Given the description of an element on the screen output the (x, y) to click on. 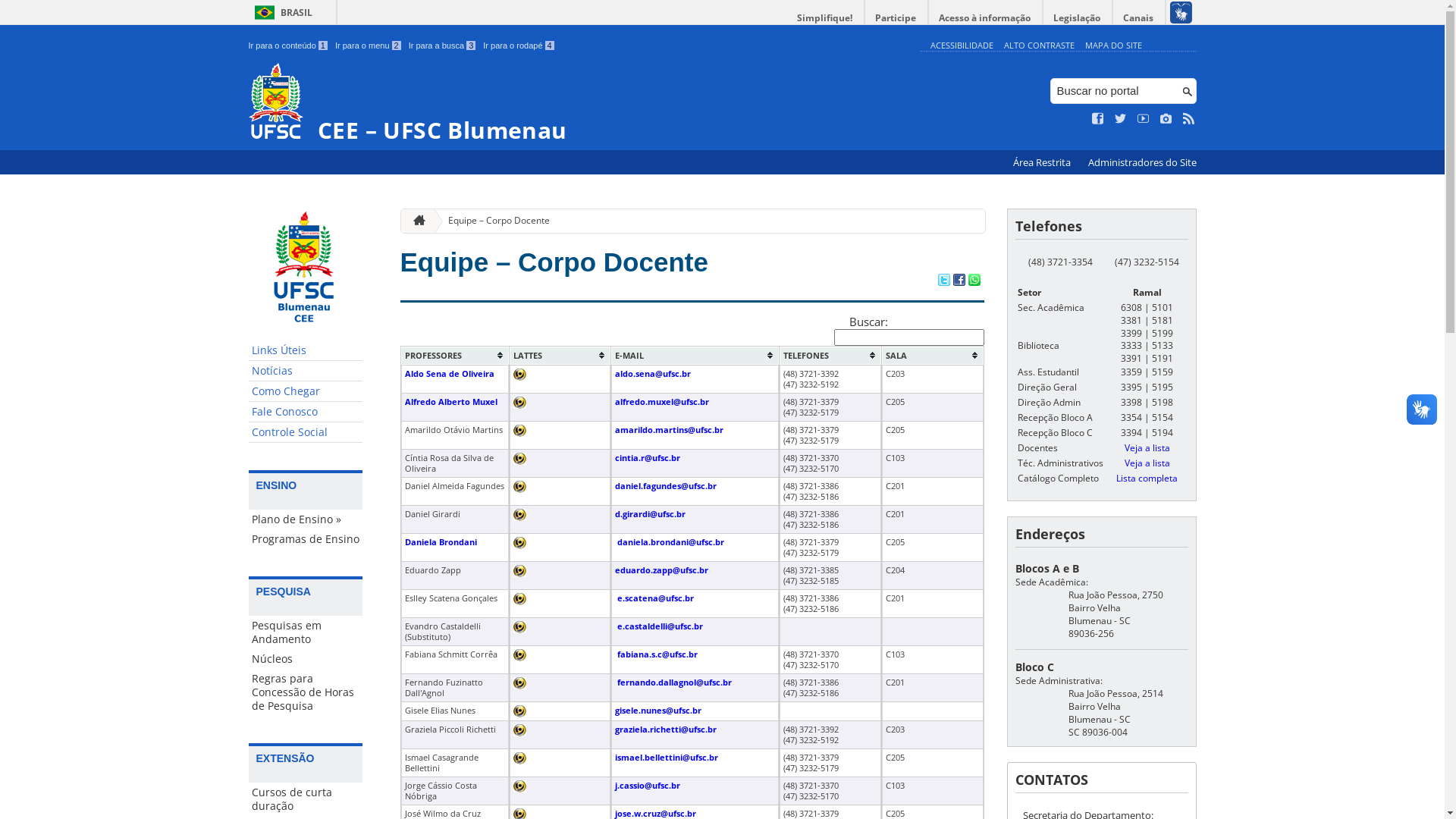
Programas de Ensino Element type: text (305, 539)
aldo.sena@ufsc.br Element type: text (652, 373)
ALTO CONTRASTE Element type: text (1039, 44)
Como Chegar Element type: text (305, 391)
eduardo.zapp@ufsc.br Element type: text (661, 569)
amarildo.martins@ufsc.br Element type: text (669, 429)
Canais Element type: text (1138, 18)
Compartilhar no Facebook Element type: hover (958, 280)
d.girardi@ufsc.br  Element type: text (651, 513)
Ir para a busca 3 Element type: text (442, 45)
daniela.brondani@ufsc.br Element type: text (670, 541)
e.scatena@ufsc.br Element type: text (655, 598)
Simplifique! Element type: text (825, 18)
alfredo.muxel@ufsc.br Element type: text (662, 401)
Controle Social Element type: text (305, 432)
fernando.dallagnol@ufsc.br Element type: text (674, 682)
Aldo Sena de Oliveira Element type: text (449, 373)
ismael.bellettini@ufsc.br Element type: text (666, 757)
Pesquisas em Andamento Element type: text (305, 632)
cintia.r@ufsc.br Element type: text (647, 457)
fabiana.s.c@ufsc.br Element type: text (657, 654)
Compartilhar no WhatsApp Element type: hover (973, 280)
Veja no Instagram Element type: hover (1166, 118)
graziela.richetti@ufsc.br Element type: text (665, 729)
daniel.fagundes@ufsc.br Element type: text (665, 485)
Fale Conosco Element type: text (305, 411)
Curta no Facebook Element type: hover (1098, 118)
Veja a lista Element type: text (1146, 462)
Siga no Twitter Element type: hover (1120, 118)
Compartilhar no Twitter Element type: hover (943, 280)
ACESSIBILIDADE Element type: text (960, 44)
Lista completa Element type: text (1146, 477)
BRASIL Element type: text (280, 12)
Administradores do Site Element type: text (1141, 162)
Ir para o menu 2 Element type: text (368, 45)
e.castaldelli@ufsc.br Element type: text (659, 626)
Veja a lista Element type: text (1146, 447)
Alfredo Alberto Muxel Element type: text (450, 401)
MAPA DO SITE Element type: text (1112, 44)
j.cassio@ufsc.br Element type: text (647, 785)
Daniela Brondani Element type: text (440, 541)
Participe Element type: text (895, 18)
gisele.nunes@ufsc.br Element type: text (658, 710)
